Given the description of an element on the screen output the (x, y) to click on. 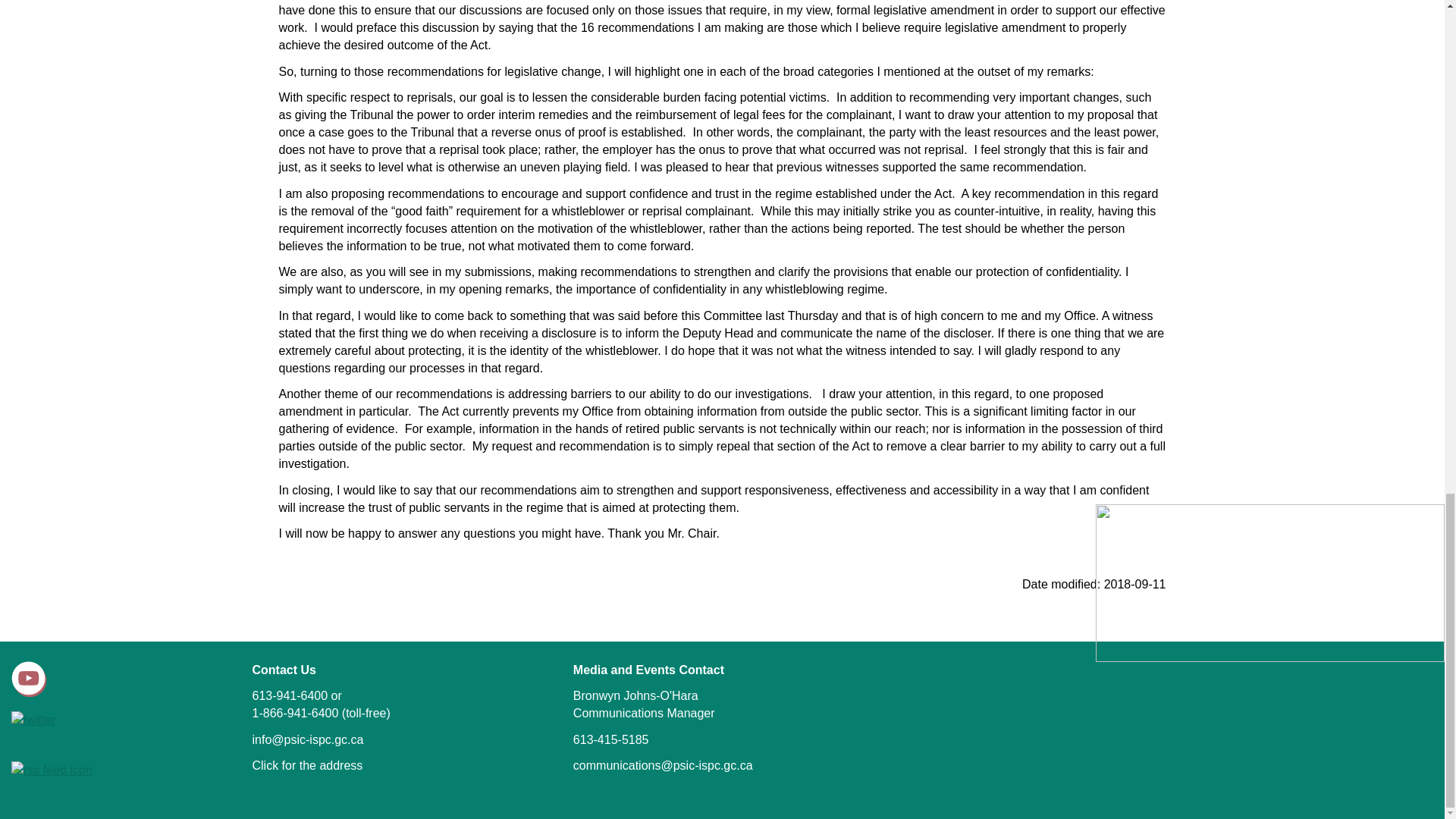
Office Coordinates (306, 765)
Twitter Account (120, 719)
Accessibility (1213, 632)
RSS Feed (120, 769)
Transparency (1385, 632)
Terms of Use (1297, 632)
YouTube Channel (28, 678)
